Given the description of an element on the screen output the (x, y) to click on. 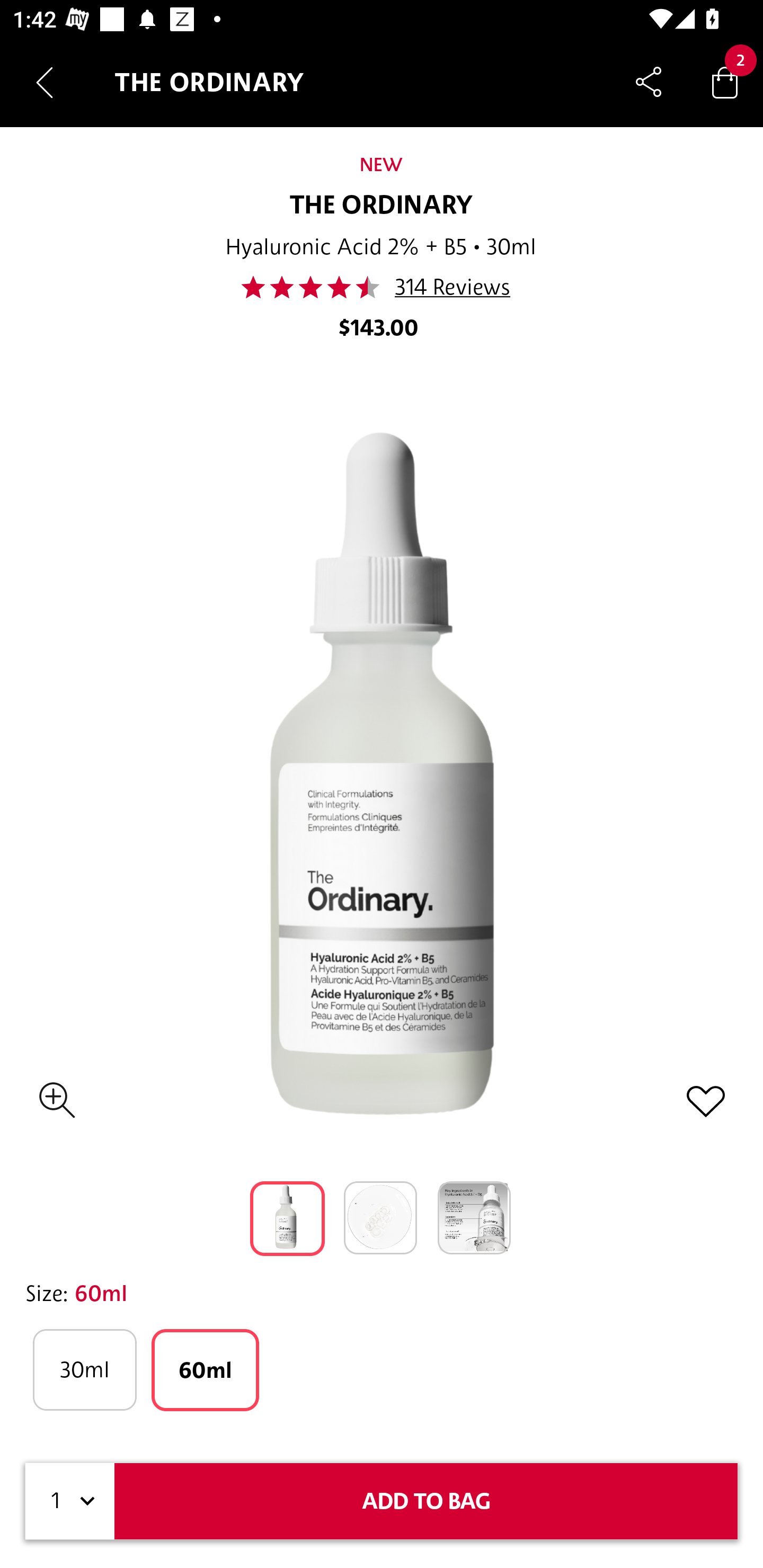
Navigate up (44, 82)
Share (648, 81)
Bag (724, 81)
THE ORDINARY (381, 205)
45.0 314 Reviews (380, 286)
30ml (84, 1370)
60ml (205, 1370)
1 (69, 1500)
ADD TO BAG (425, 1500)
